Given the description of an element on the screen output the (x, y) to click on. 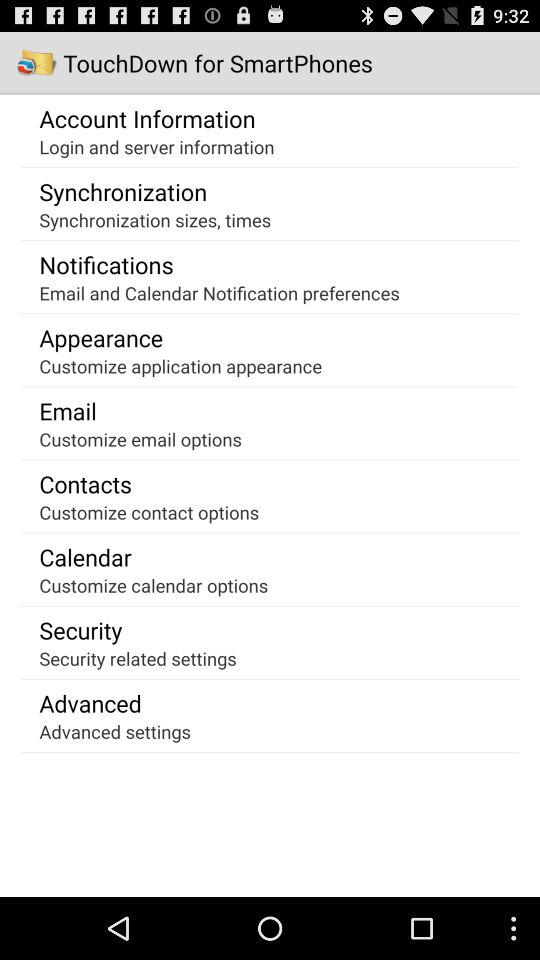
press icon below the advanced (114, 731)
